Given the description of an element on the screen output the (x, y) to click on. 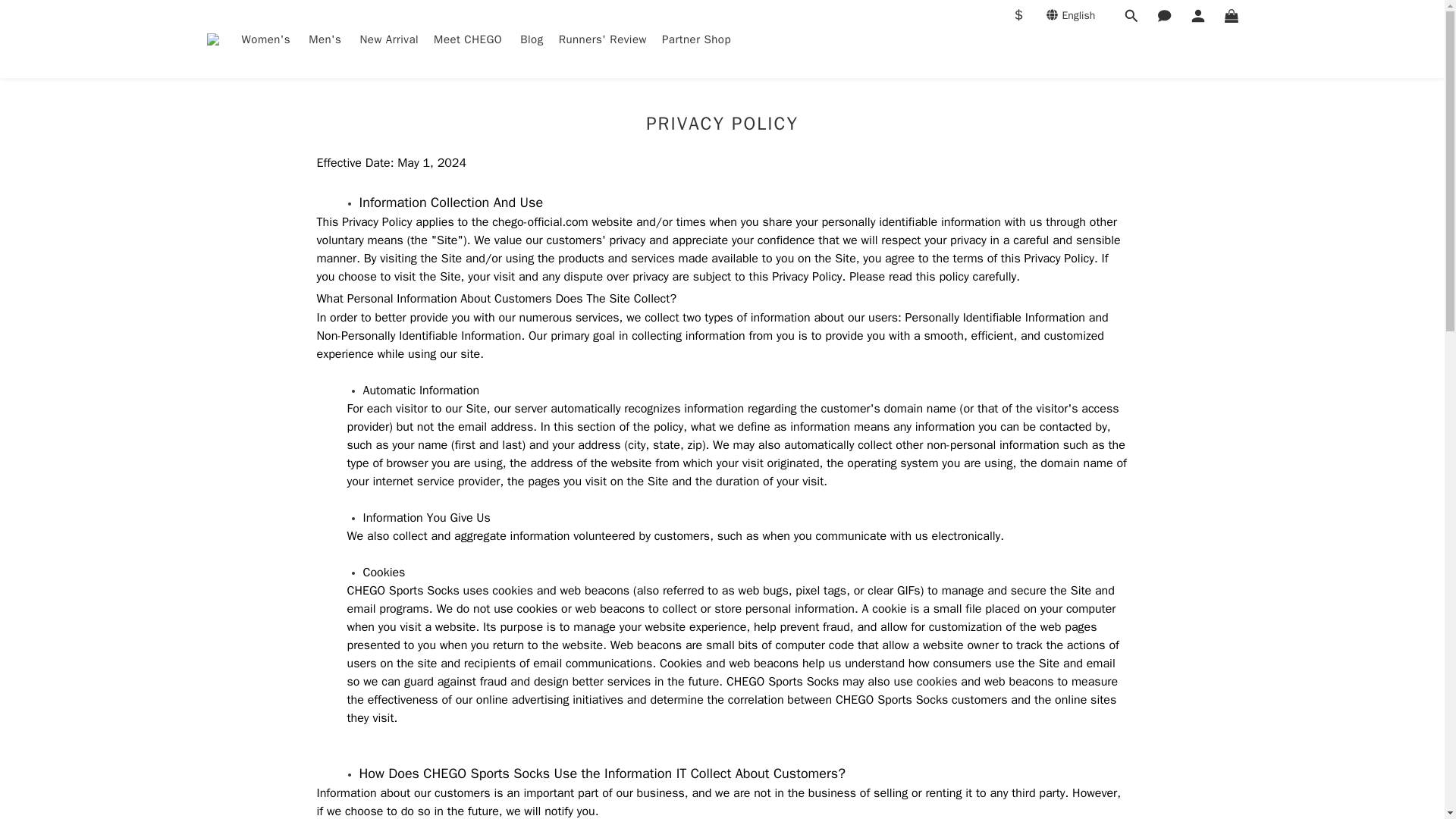
Women's (267, 39)
Men's (325, 39)
New Arrival (389, 39)
Meet CHEGO (469, 39)
